Given the description of an element on the screen output the (x, y) to click on. 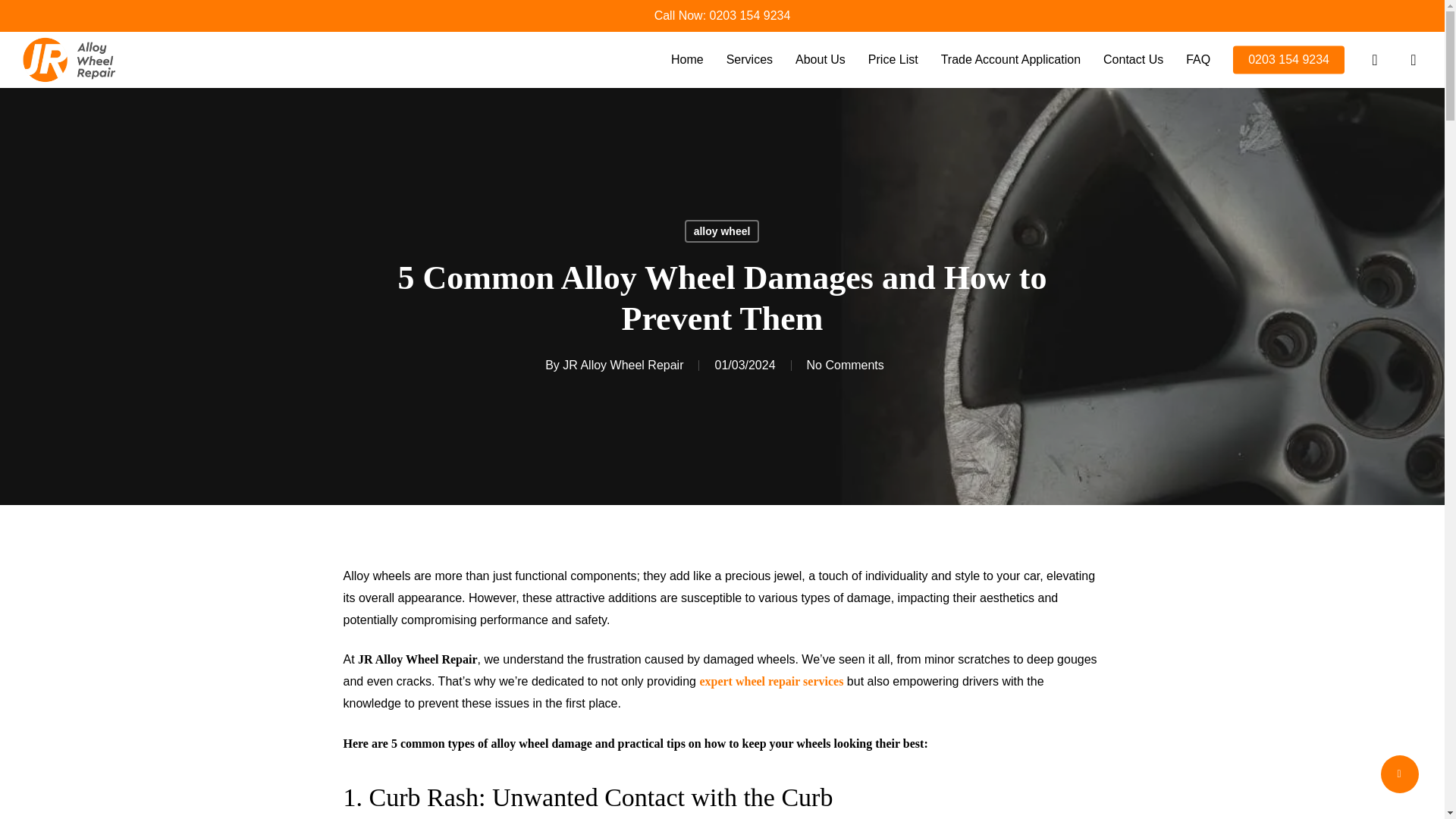
Trade Account Application (1010, 60)
Home (687, 60)
No Comments (844, 364)
JR Alloy Wheel Repair (622, 364)
Call Now: 0203 154 9234 (721, 15)
Posts by JR Alloy Wheel Repair (622, 364)
search (1374, 59)
Services (749, 60)
FAQ (1197, 60)
Price List (892, 60)
